Given the description of an element on the screen output the (x, y) to click on. 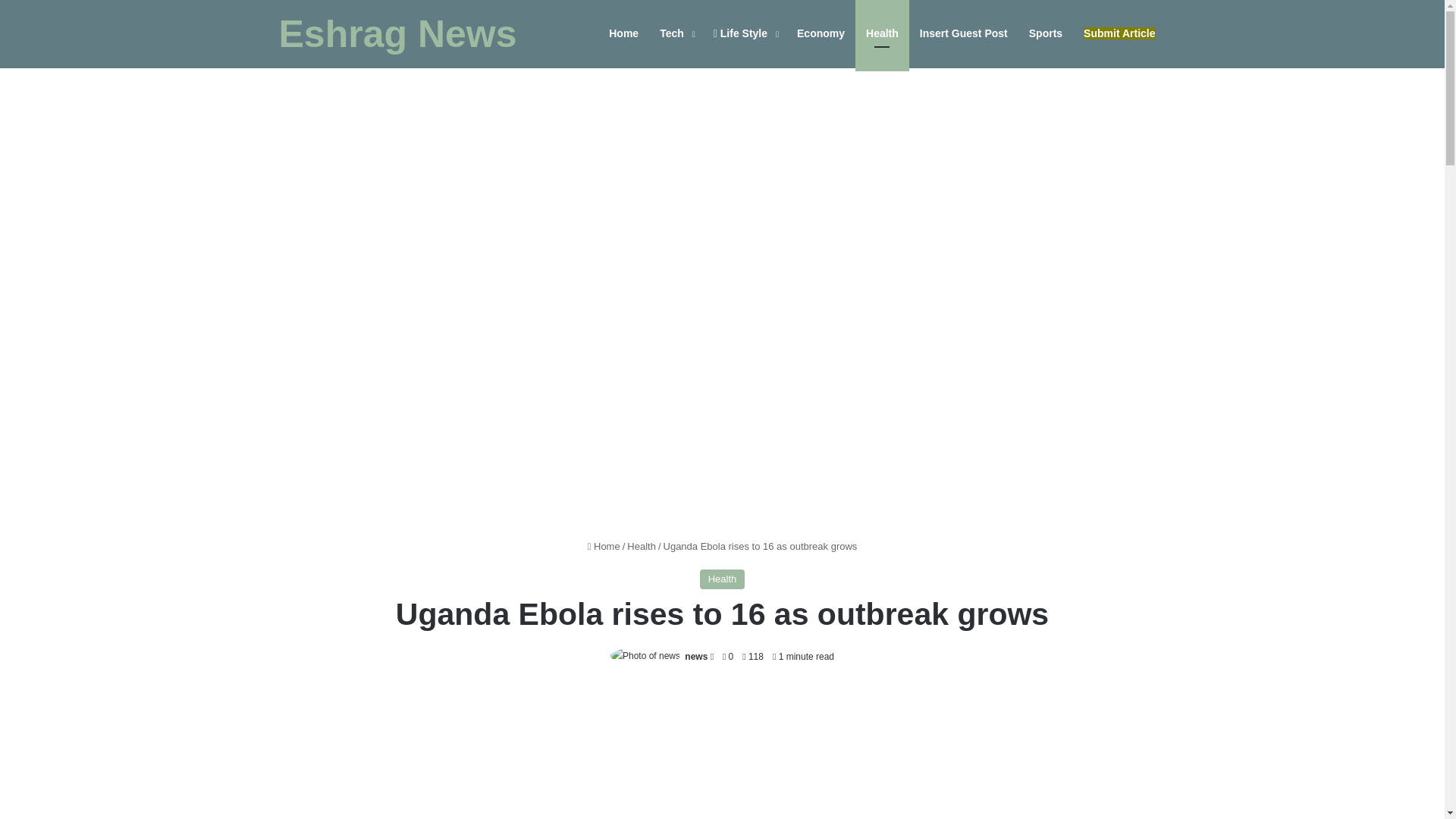
Eshrag News (397, 34)
Health (641, 546)
Advertisement (722, 753)
Life Style (744, 33)
Eshrag News (397, 34)
Submit Article (1119, 33)
Economy (821, 33)
Health (722, 578)
